Given the description of an element on the screen output the (x, y) to click on. 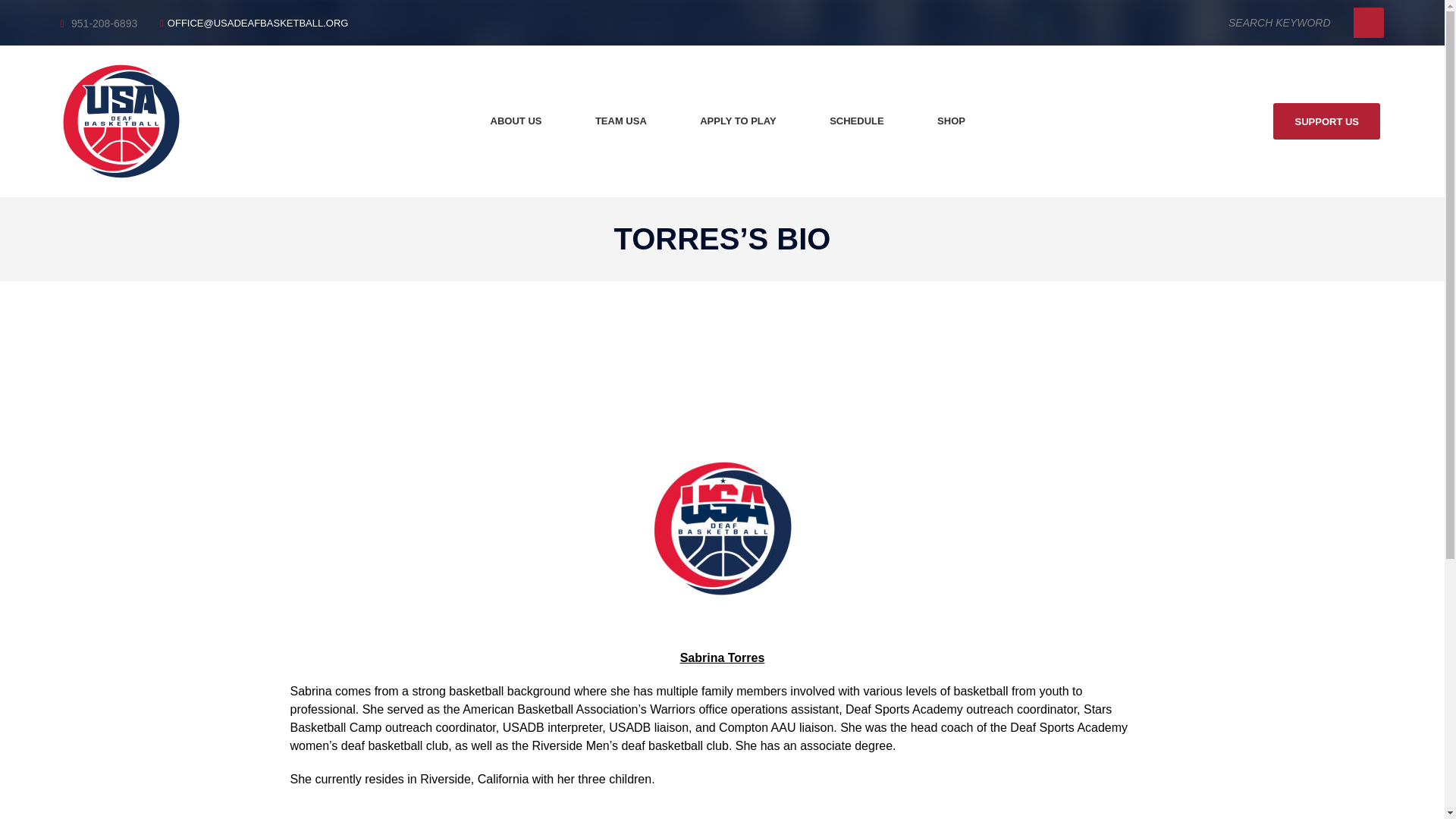
APPLY TO PLAY (738, 120)
Search for: (1294, 22)
SEARCH (1369, 22)
SUPPORT US (1326, 121)
